Given the description of an element on the screen output the (x, y) to click on. 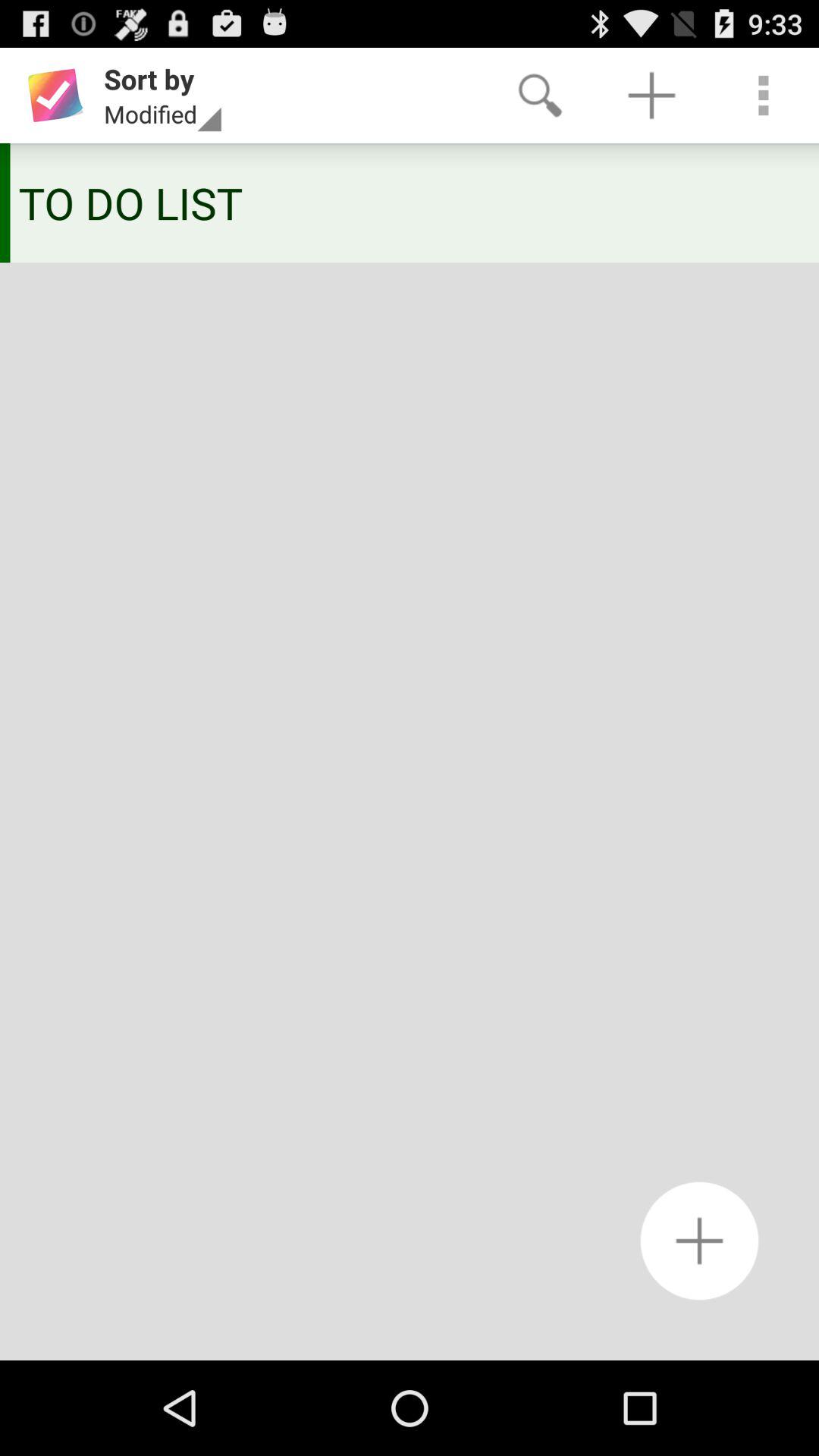
add content (699, 1240)
